Given the description of an element on the screen output the (x, y) to click on. 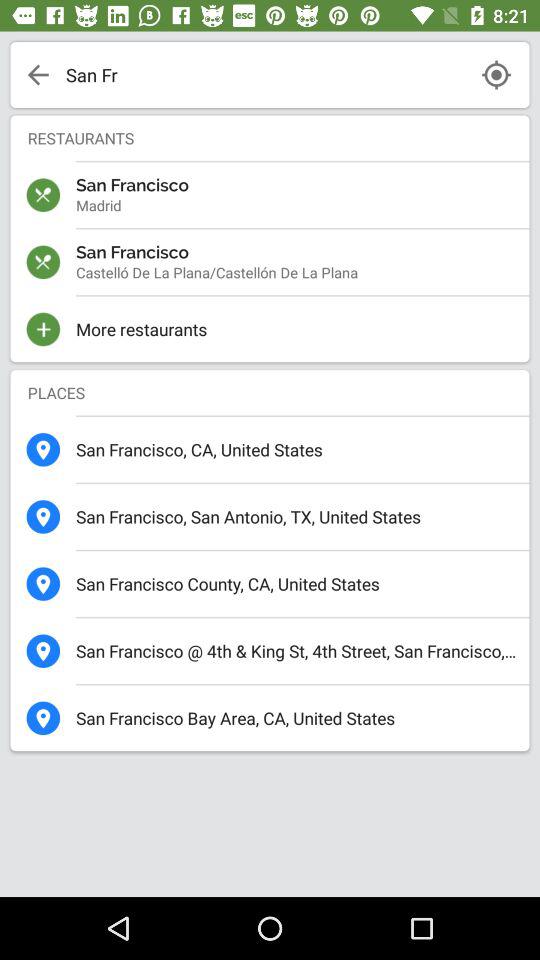
turn off places (269, 392)
